Given the description of an element on the screen output the (x, y) to click on. 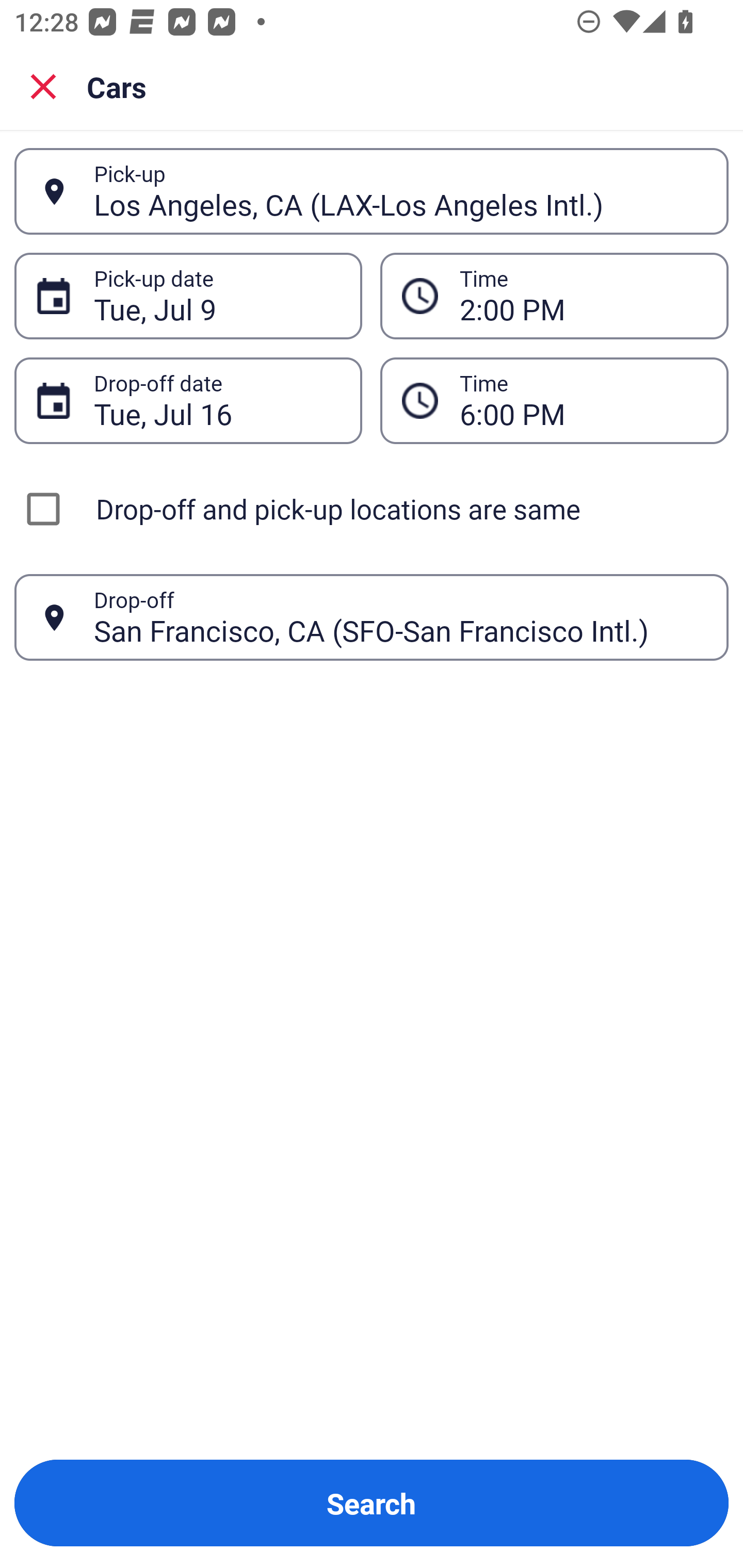
Close search screen (43, 86)
Los Angeles, CA (LAX-Los Angeles Intl.) Pick-up (371, 191)
Los Angeles, CA (LAX-Los Angeles Intl.) (399, 191)
Tue, Jul 9 Pick-up date (188, 295)
2:00 PM (554, 295)
Tue, Jul 9 (216, 296)
2:00 PM (582, 296)
Tue, Jul 16 Drop-off date (188, 400)
6:00 PM (554, 400)
Tue, Jul 16 (216, 400)
6:00 PM (582, 400)
Drop-off and pick-up locations are same (371, 508)
San Francisco, CA (SFO-San Francisco Intl.) (399, 616)
Search Button Search (371, 1502)
